Given the description of an element on the screen output the (x, y) to click on. 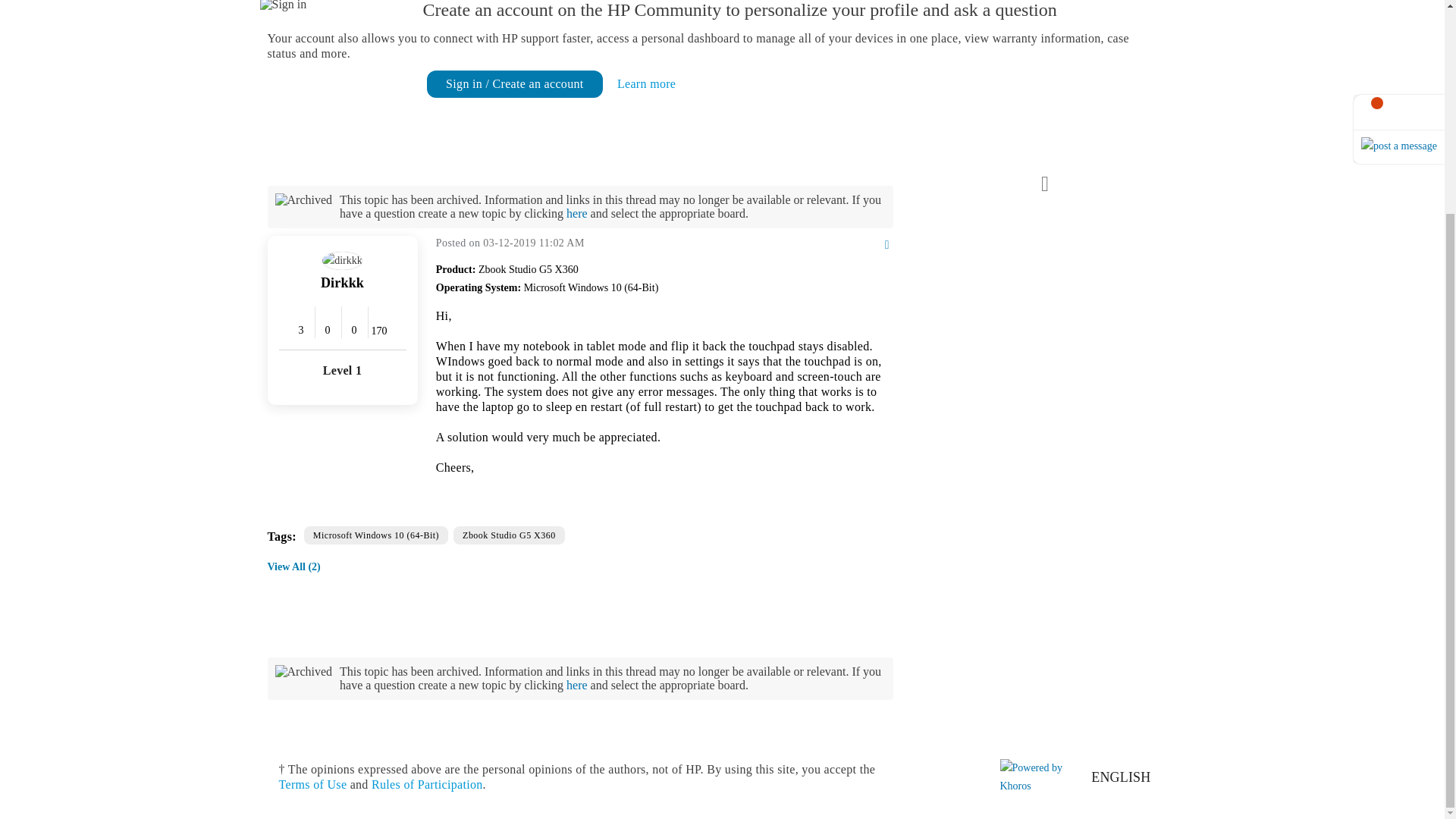
dirkkk (341, 260)
Show option menu (867, 245)
